Given the description of an element on the screen output the (x, y) to click on. 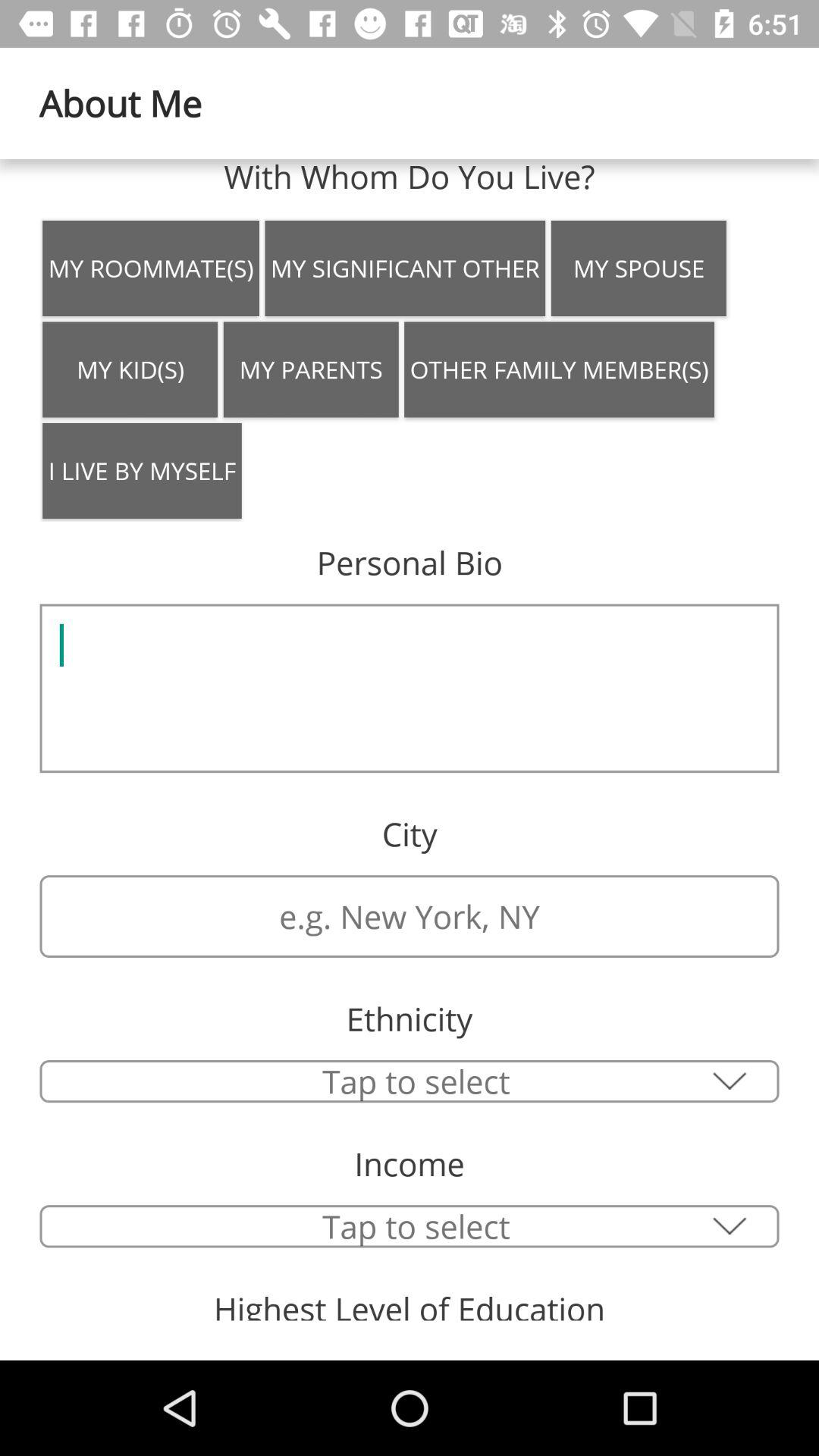
choose the icon below the personal bio item (409, 688)
